Given the description of an element on the screen output the (x, y) to click on. 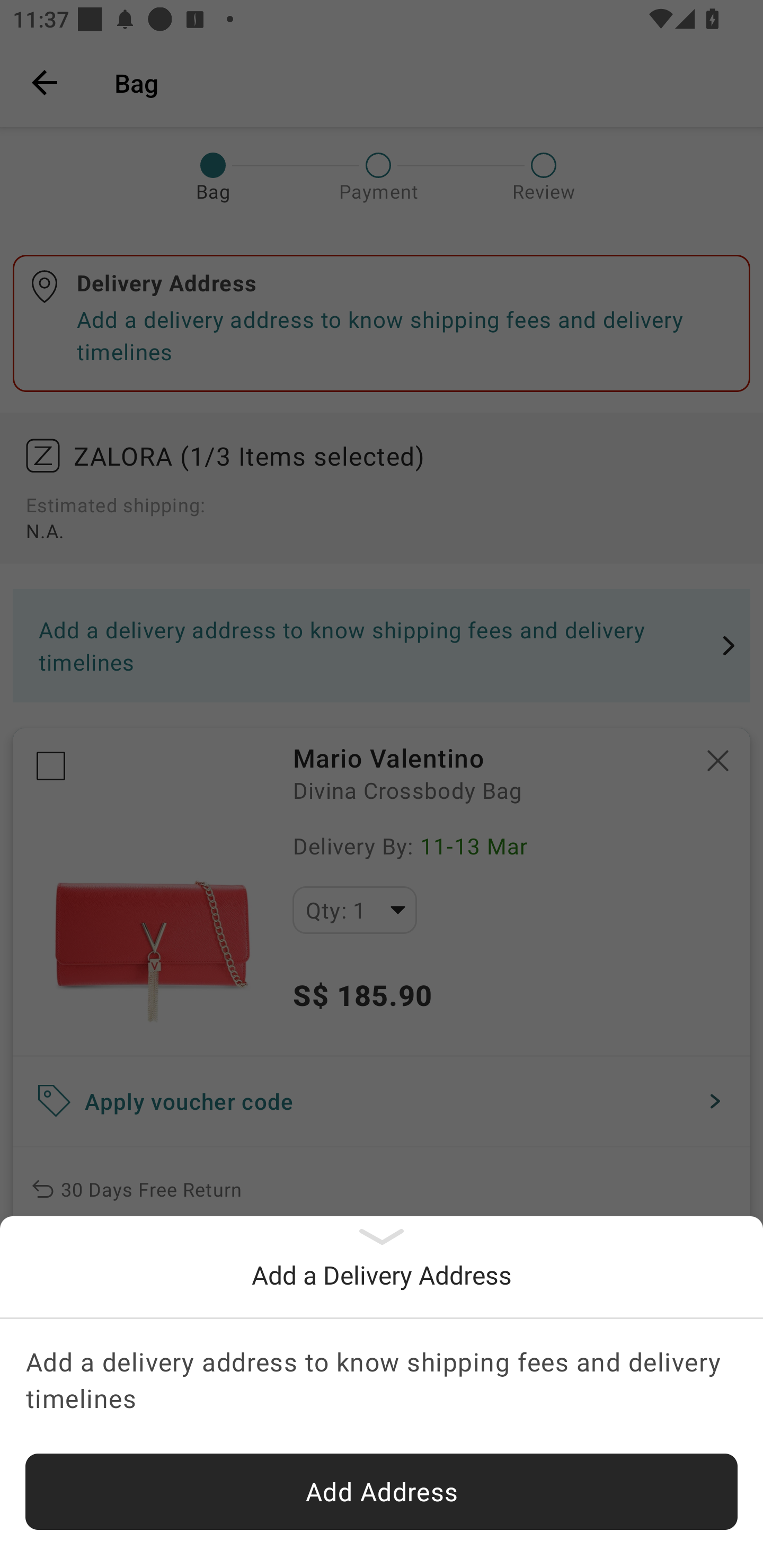
Add Address (381, 1491)
